Given the description of an element on the screen output the (x, y) to click on. 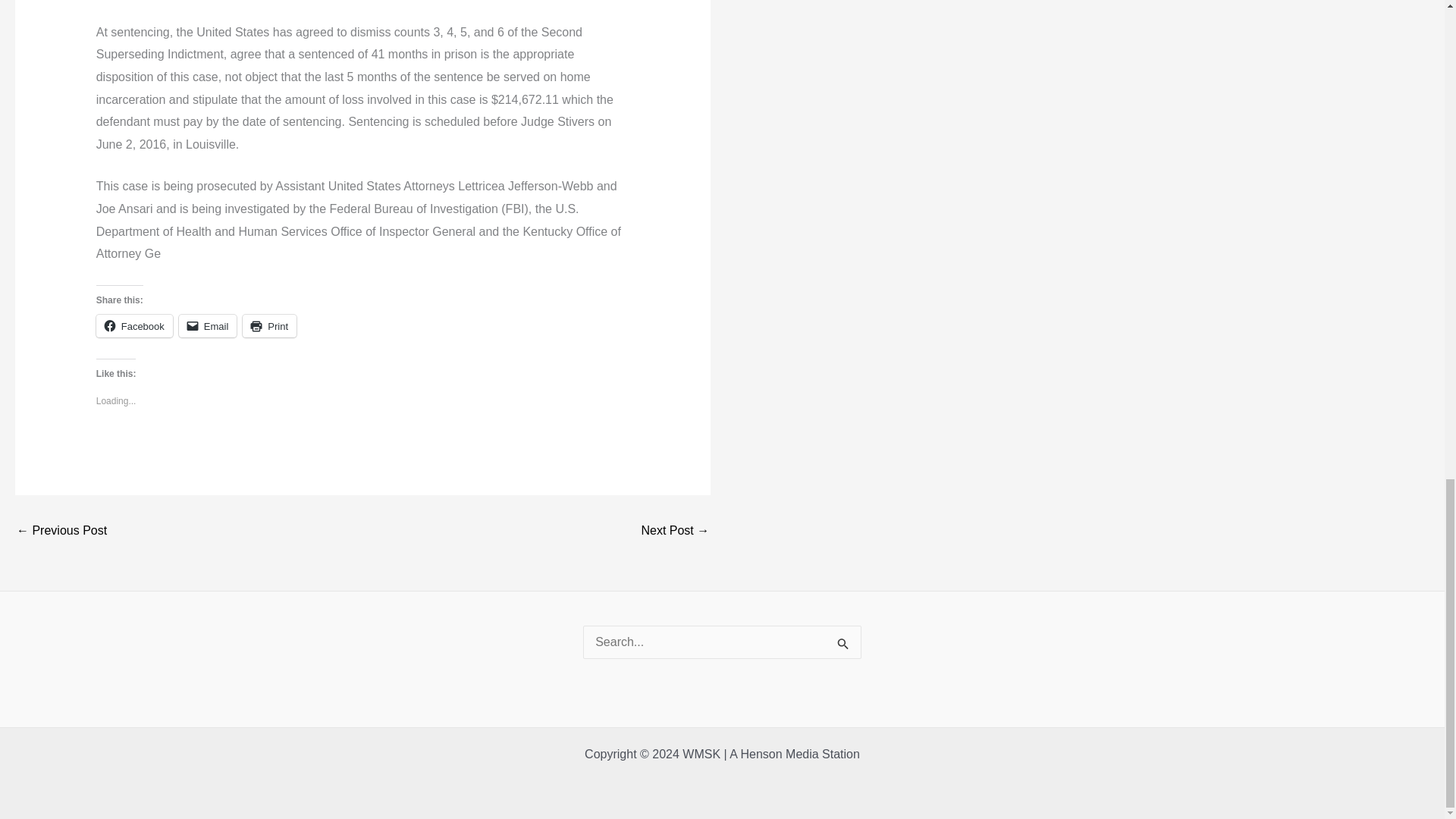
Click to share on Facebook (134, 325)
Click to print (270, 325)
NWS Detailed Forecast thru Tuesday, March 1, 2016 (61, 530)
Click to email a link to a friend (208, 325)
